Given the description of an element on the screen output the (x, y) to click on. 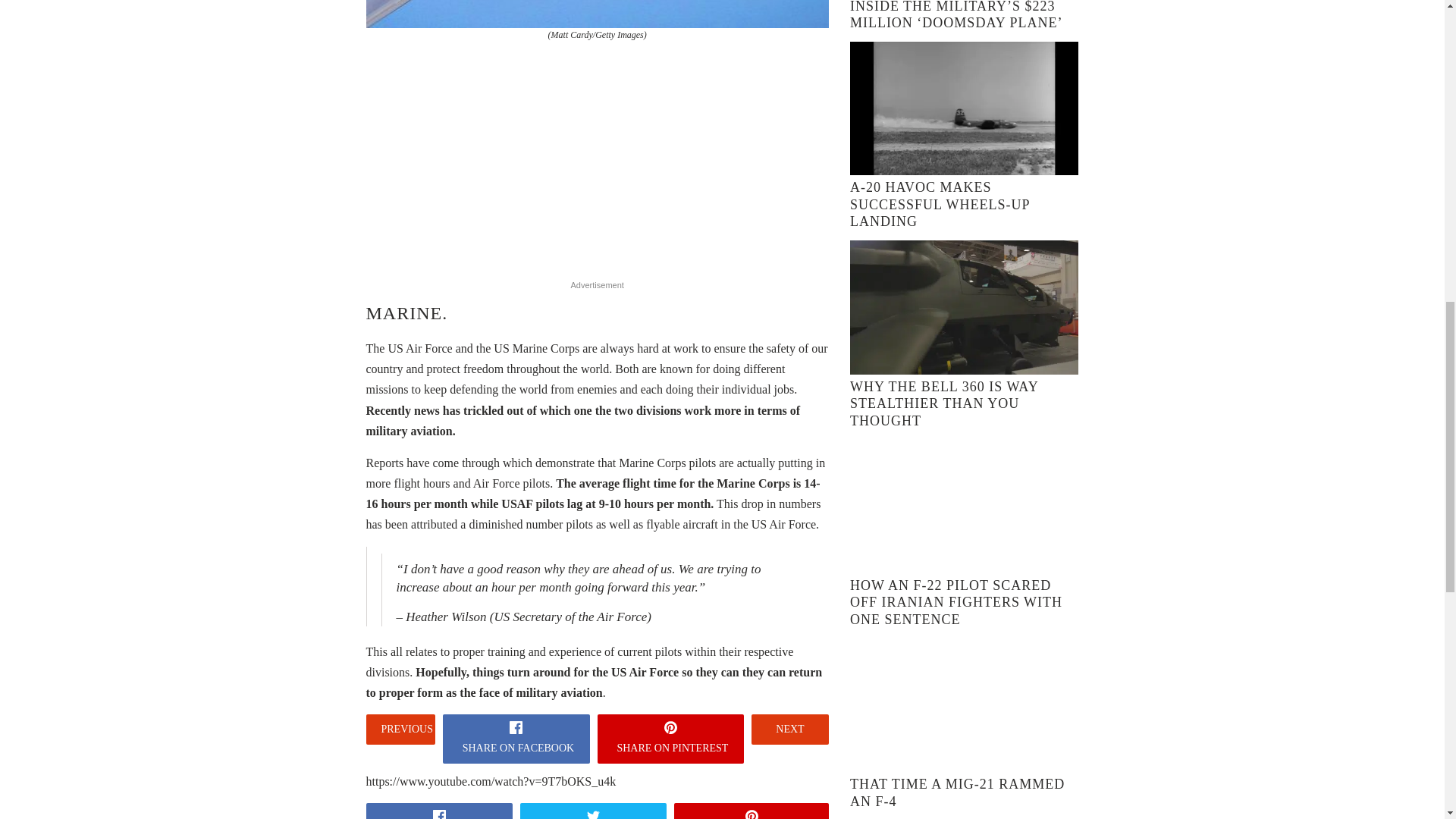
SHARE ON PINTEREST (670, 738)
Advertisement (597, 169)
SHARE ON FACEBOOK (515, 738)
THAT TIME A MIG-21 RAMMED AN F-4 (957, 792)
Why the Bell 360 Is Way Stealthier Than You Thought (944, 403)
SHARE ON TWITTER (592, 811)
SHARE ON PINTEREST (751, 811)
A-20 HAVOC MAKES SUCCESSFUL WHEELS-UP LANDING (939, 204)
